Given the description of an element on the screen output the (x, y) to click on. 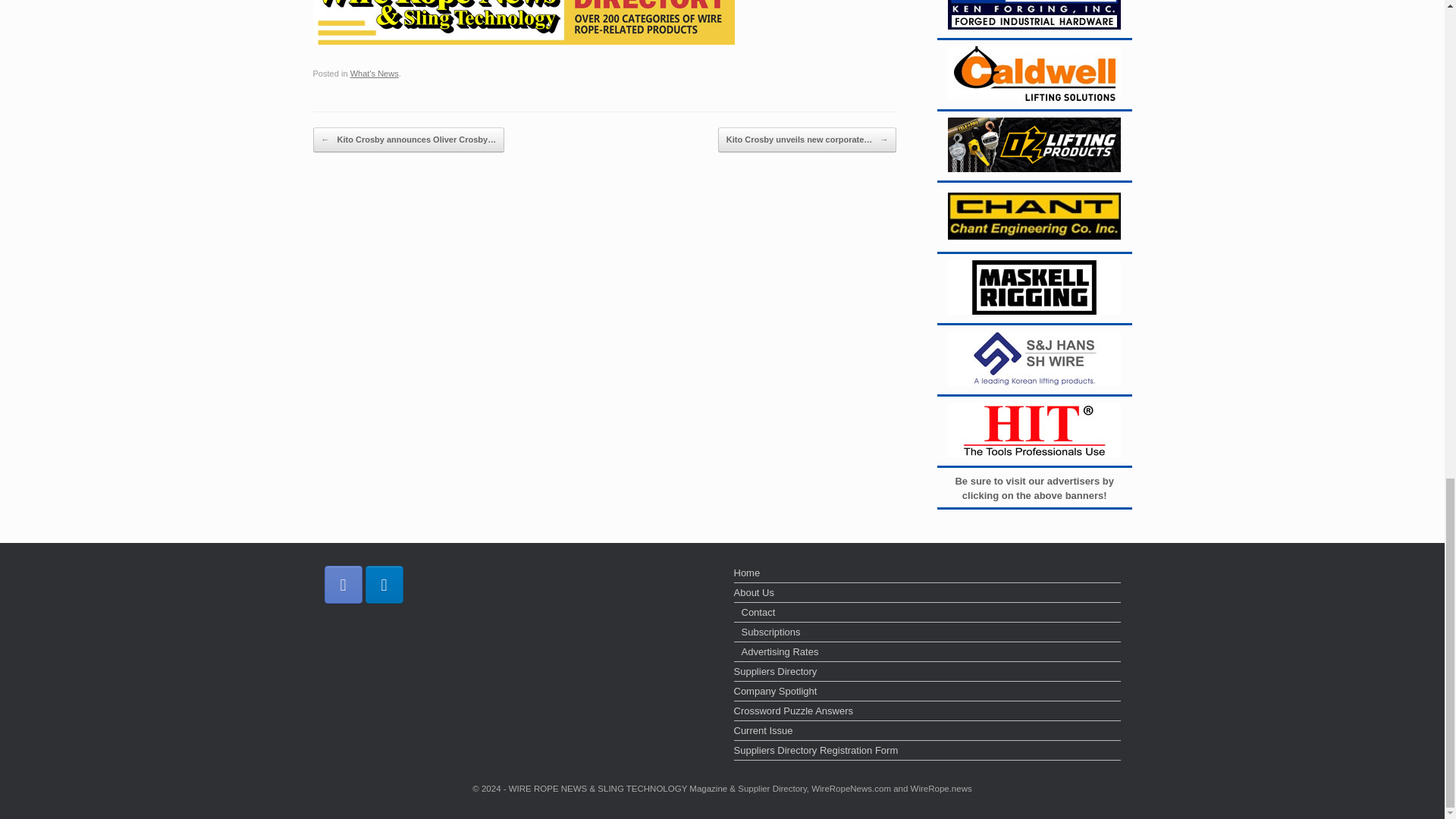
wireropenews LinkedIn (384, 584)
wireropenews Facebook (343, 584)
What's News (374, 72)
Home (927, 574)
Caldwell Lifting Solutions (1034, 72)
